Given the description of an element on the screen output the (x, y) to click on. 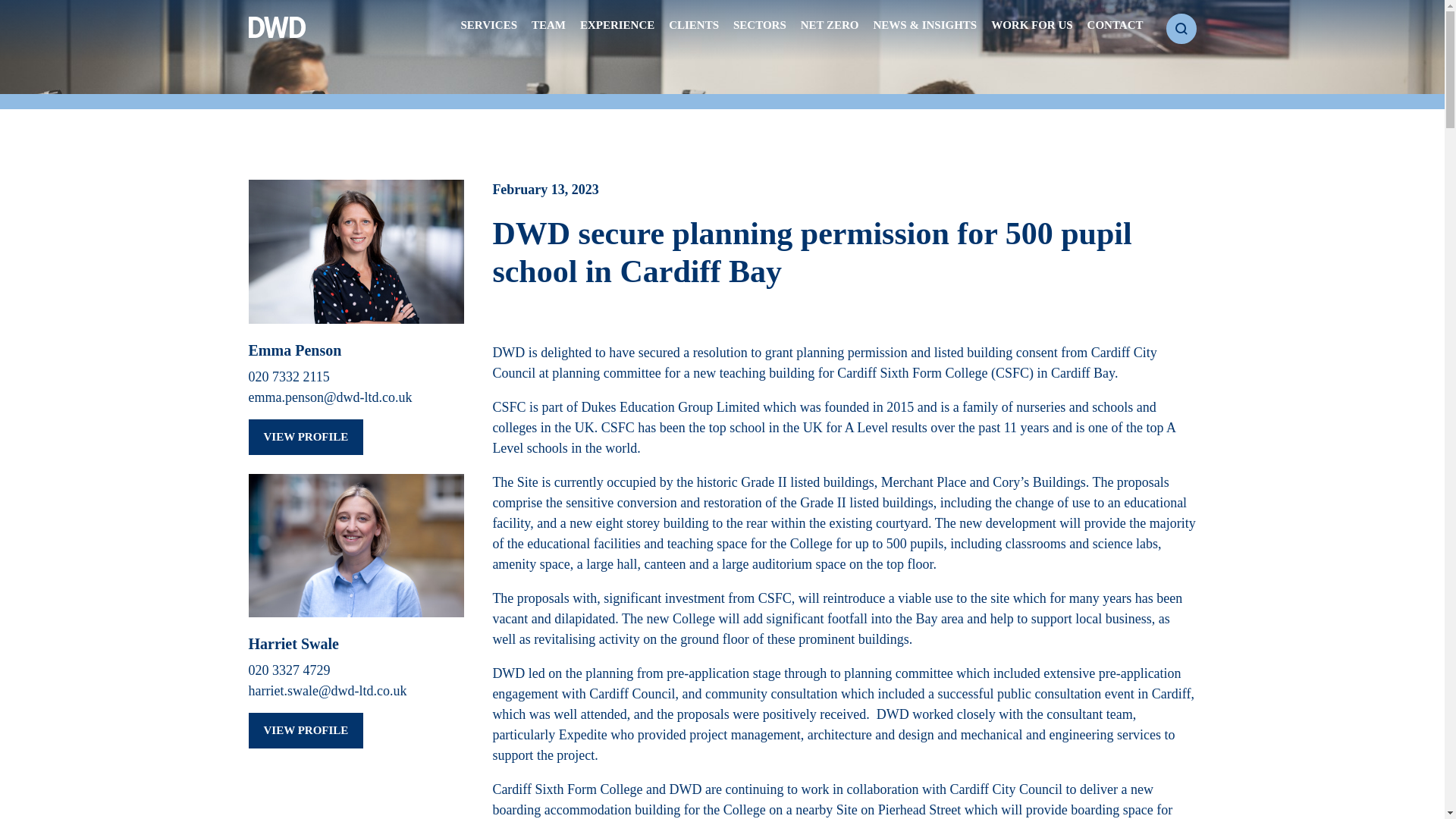
VIEW PROFILE (306, 730)
SECTORS (759, 30)
CLIENTS (693, 30)
EXPERIENCE (616, 30)
CONTACT (1114, 30)
WORK FOR US (1032, 30)
TEAM (548, 30)
NET ZERO (829, 30)
VIEW PROFILE (306, 437)
SERVICES (489, 30)
